Given the description of an element on the screen output the (x, y) to click on. 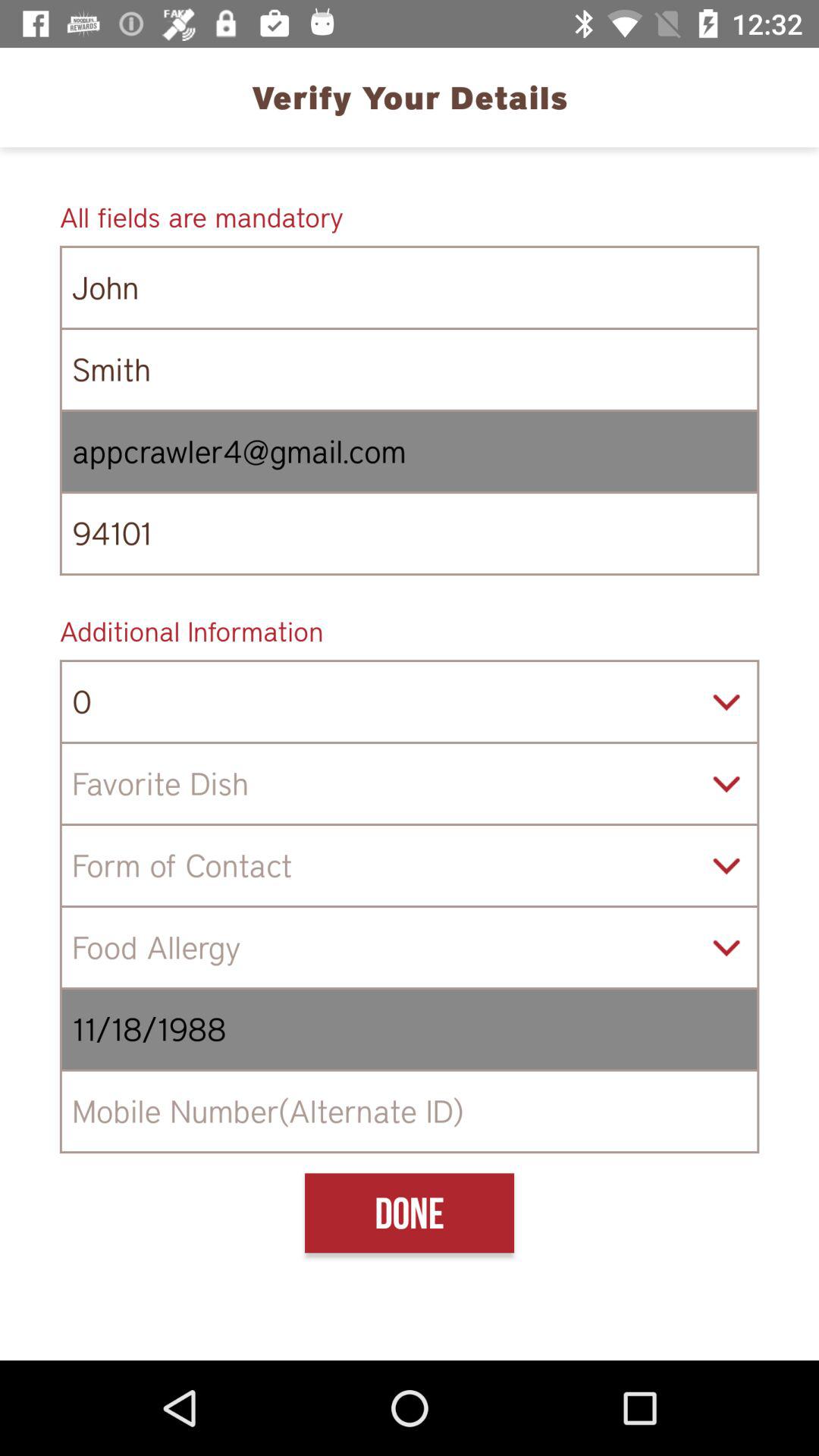
drop down to choose a question (409, 783)
